Given the description of an element on the screen output the (x, y) to click on. 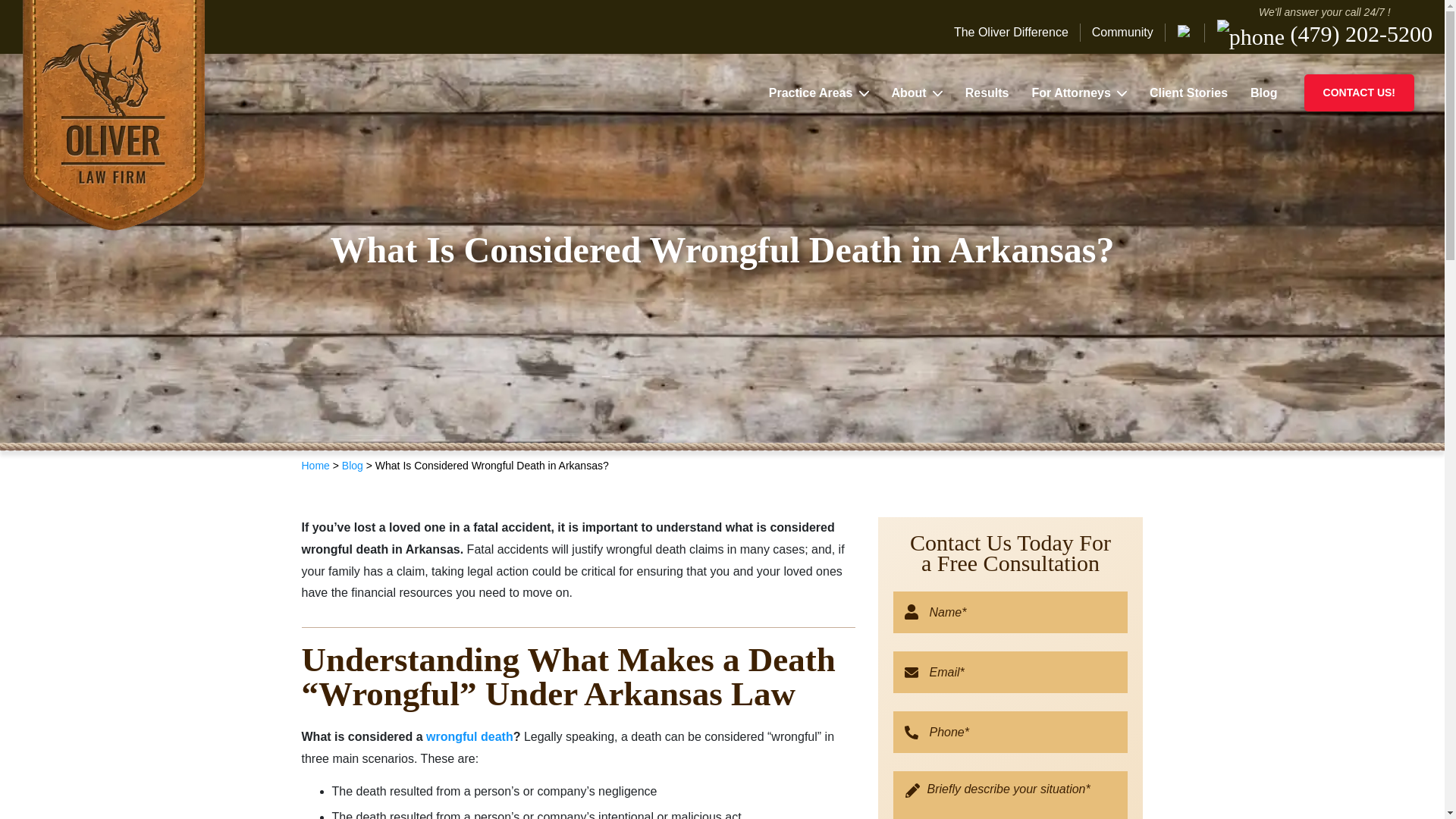
CONTACT US! (1358, 92)
Client Stories (1188, 93)
Community (1123, 32)
The Oliver Difference (1016, 32)
